Given the description of an element on the screen output the (x, y) to click on. 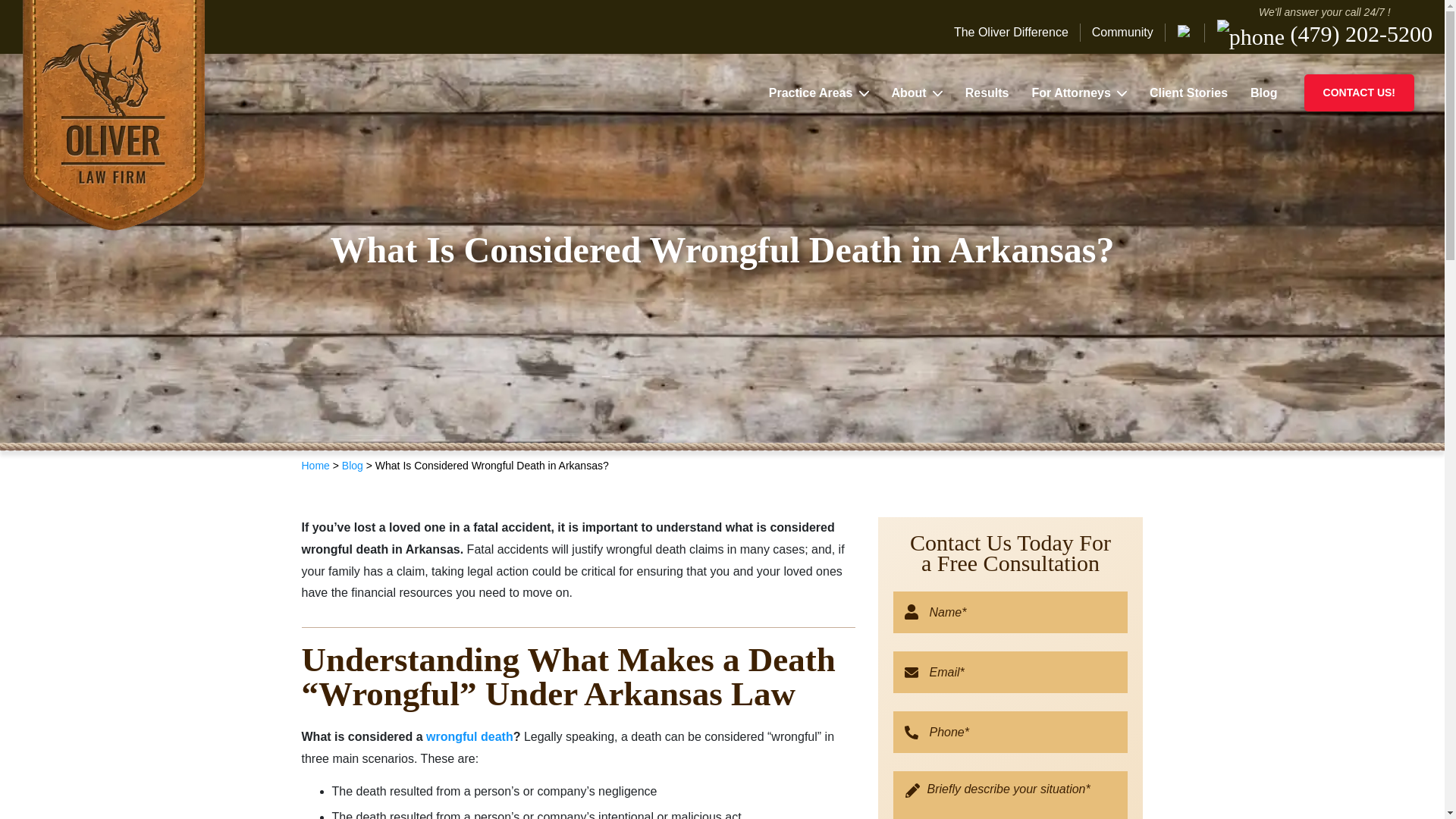
CONTACT US! (1358, 92)
Client Stories (1188, 93)
Community (1123, 32)
The Oliver Difference (1016, 32)
